Given the description of an element on the screen output the (x, y) to click on. 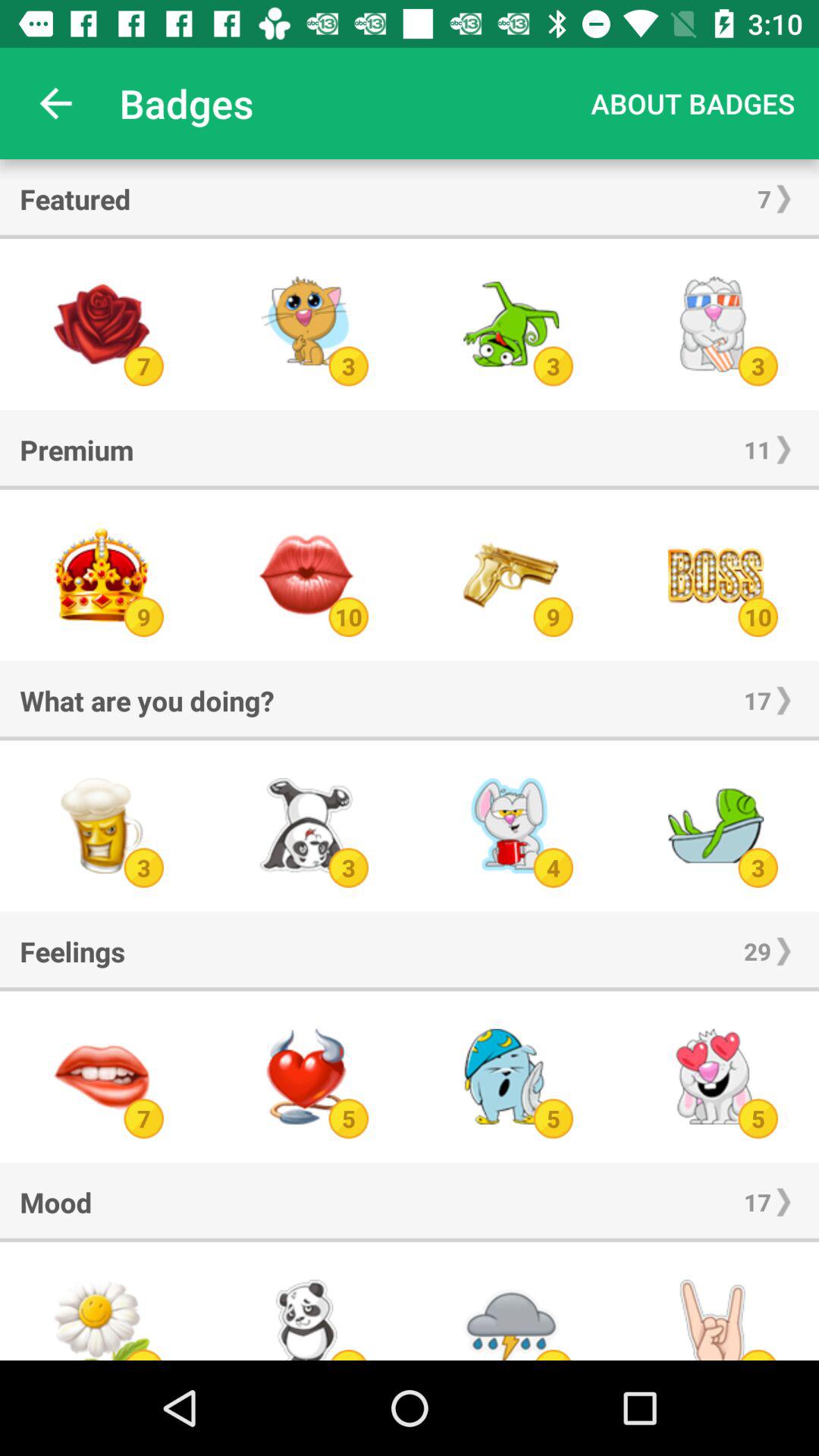
jump until about badges (693, 103)
